Given the description of an element on the screen output the (x, y) to click on. 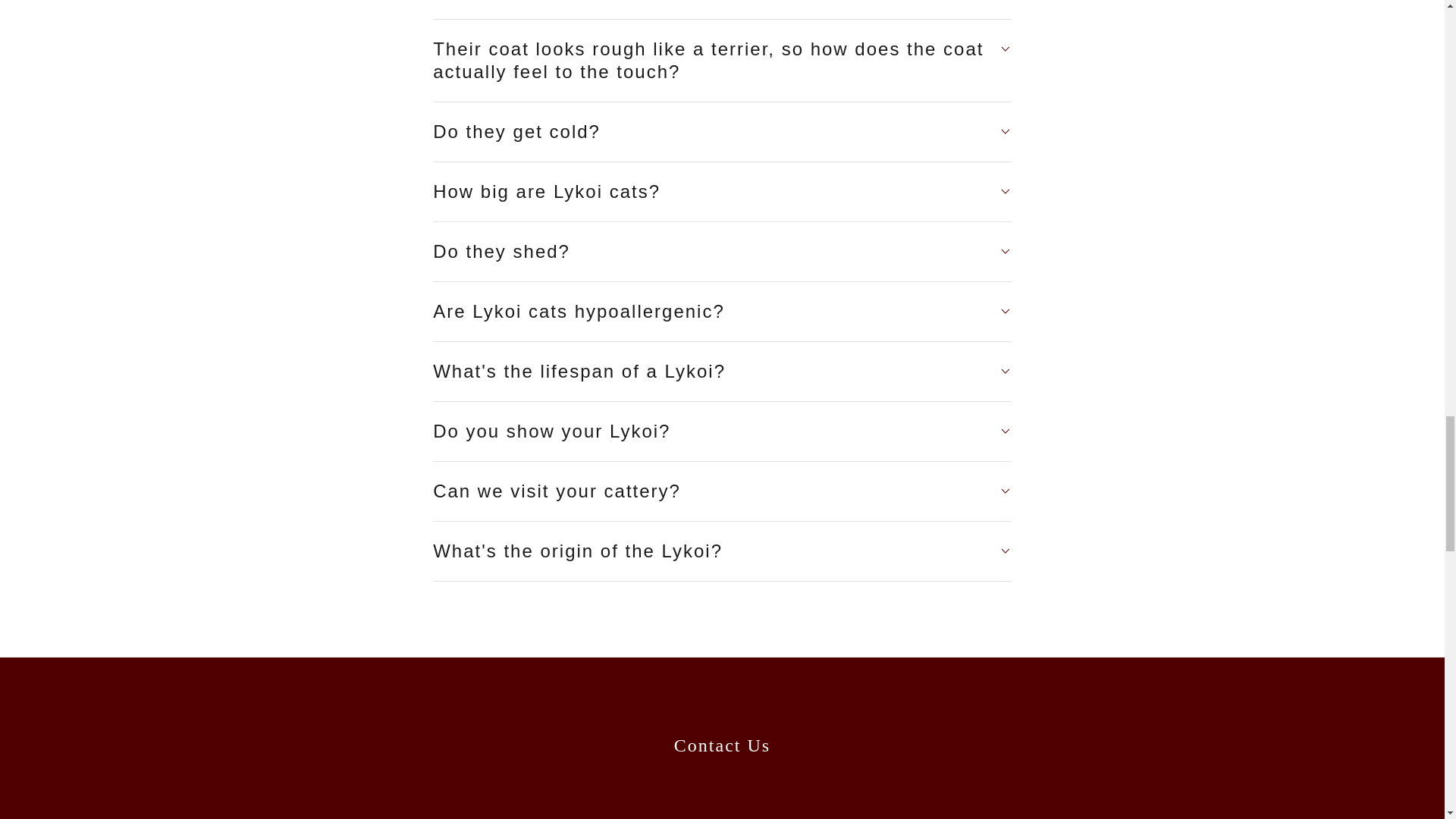
Do you show your Lykoi? (721, 431)
What's the lifespan of a Lykoi? (721, 371)
What's the origin of the Lykoi? (721, 550)
Do they shed? (721, 251)
How big are Lykoi cats? (721, 191)
Do they get cold? (721, 131)
Are Lykoi cats hypoallergenic? (721, 311)
Can we visit your cattery? (721, 491)
